Given the description of an element on the screen output the (x, y) to click on. 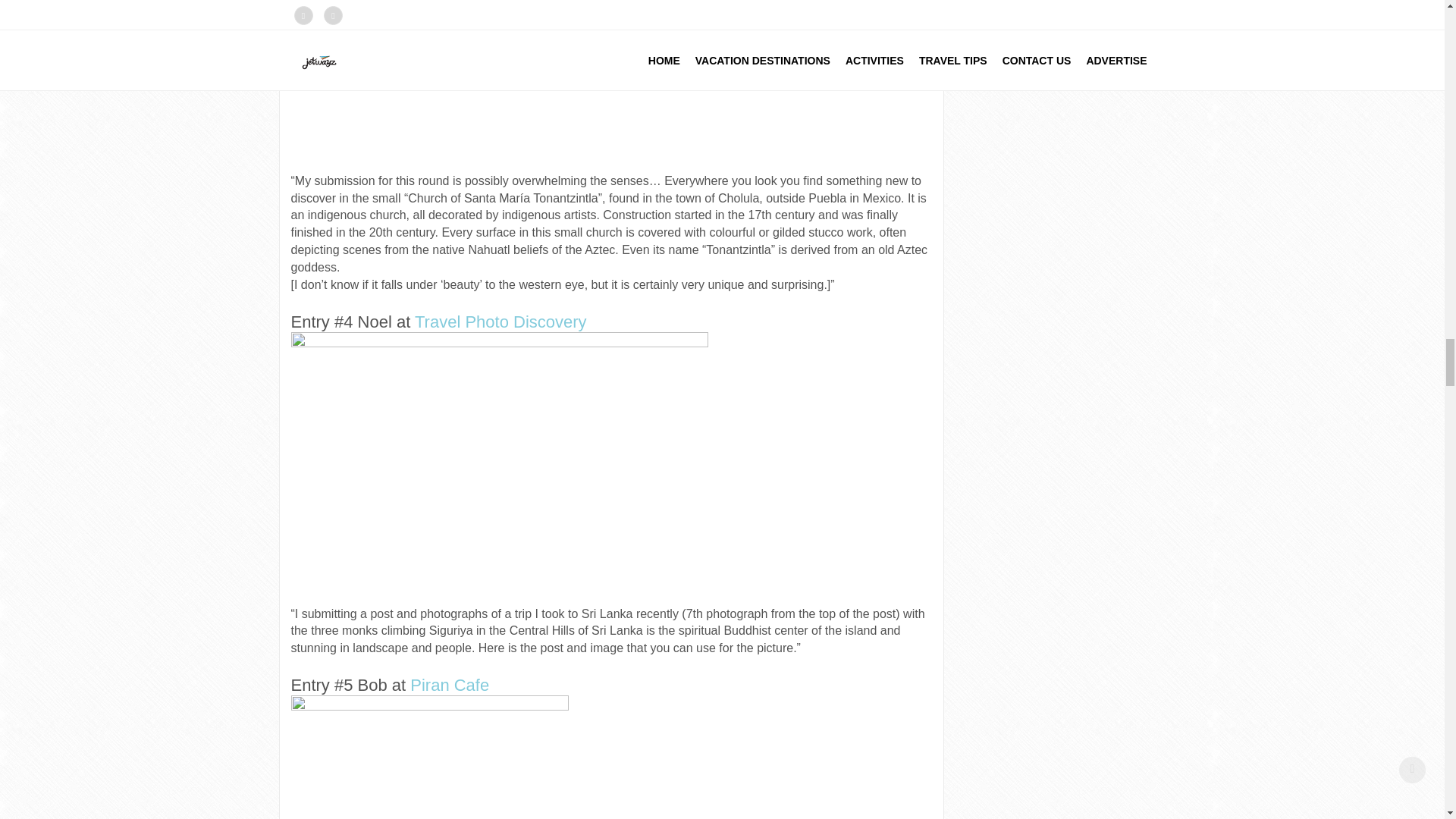
Travel Photo Discovery (502, 321)
entry 4 (499, 469)
Entry 3 (664, 86)
